Given the description of an element on the screen output the (x, y) to click on. 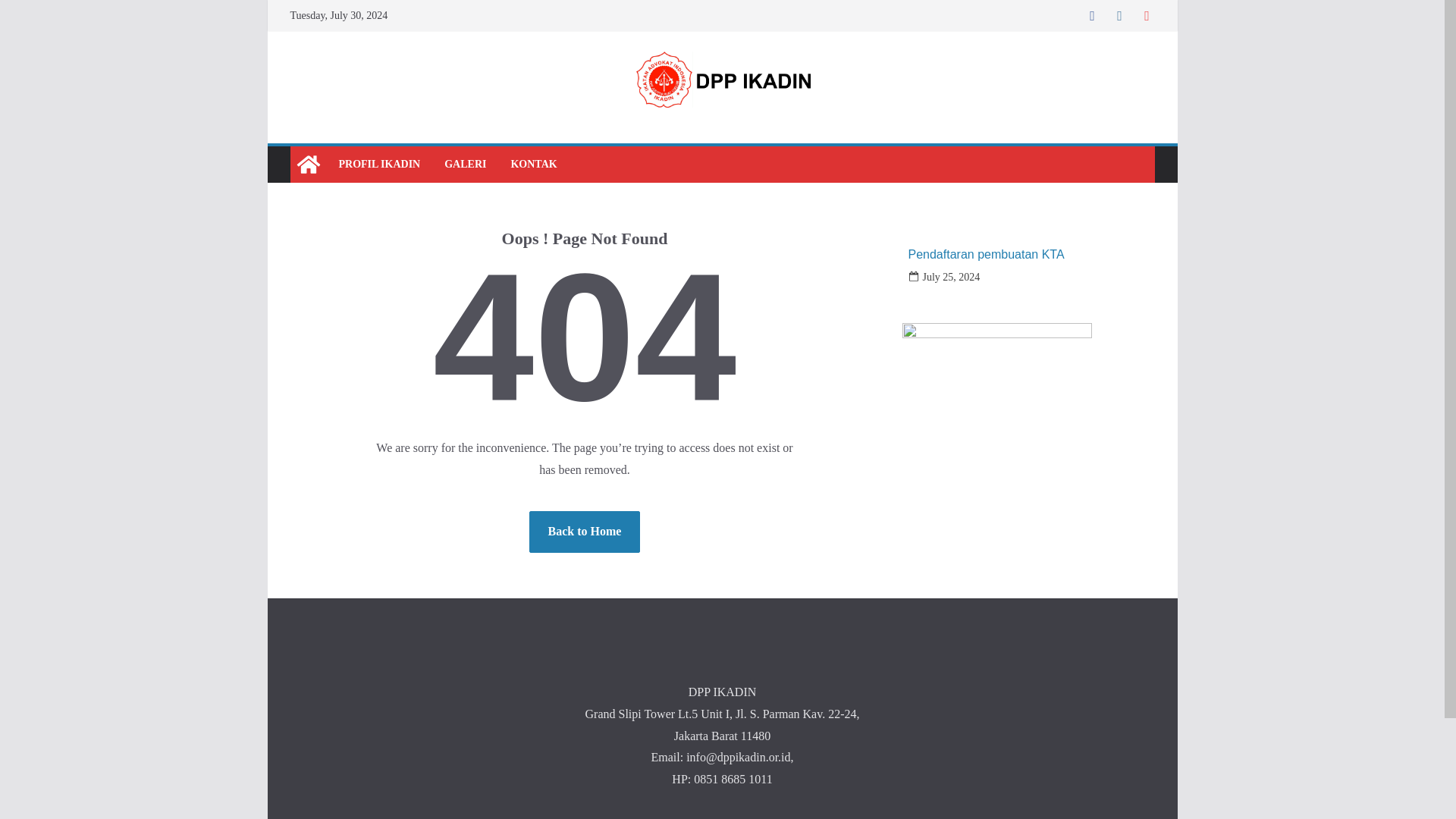
Website Resmi DPP IKADIN (307, 164)
Pendaftaran pembuatan KTA (986, 254)
GALERI (465, 164)
Back to Home (584, 531)
KONTAK (533, 164)
July 25, 2024 (950, 276)
PROFIL IKADIN (378, 164)
